Given the description of an element on the screen output the (x, y) to click on. 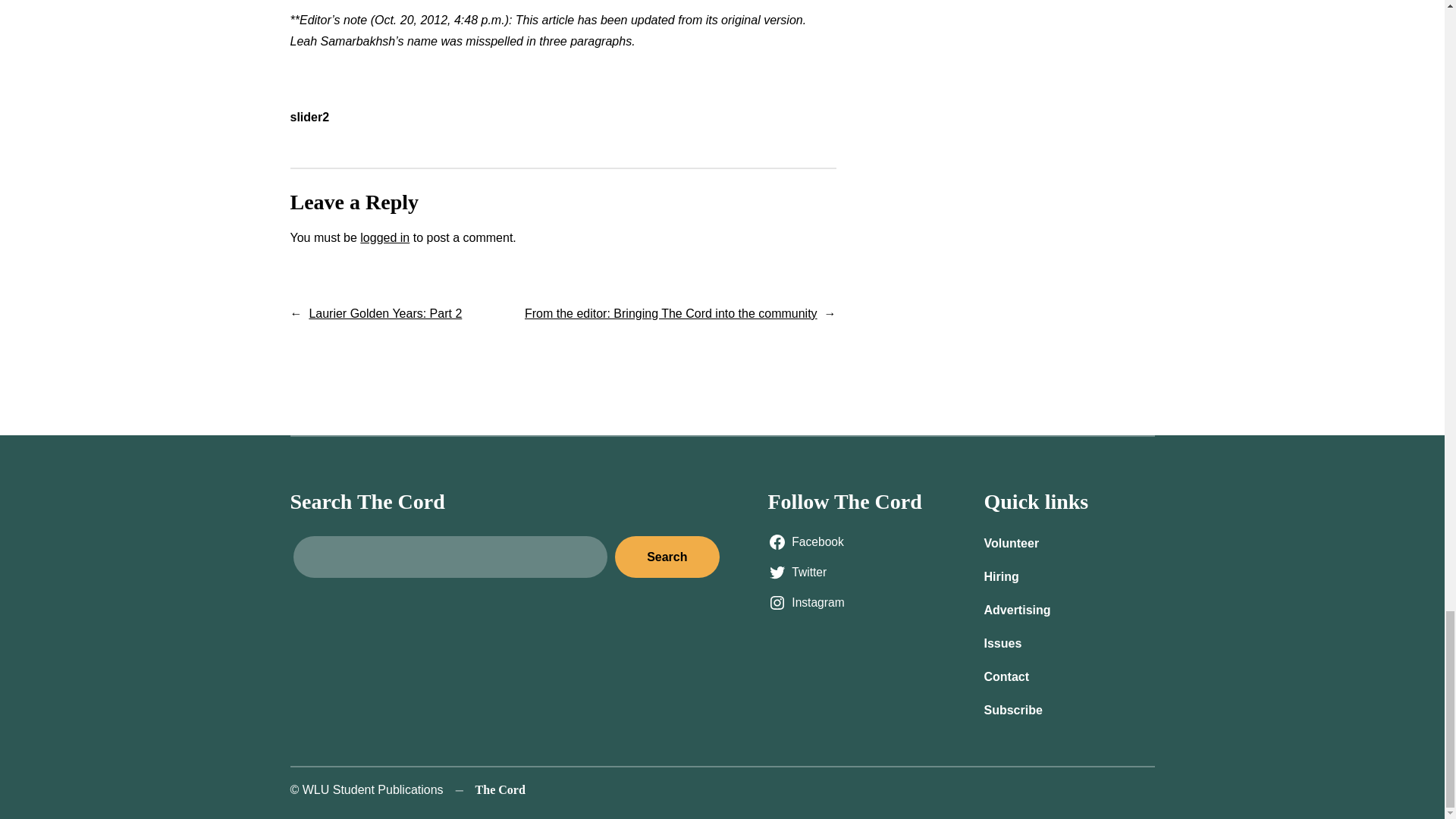
From the editor: Bringing The Cord into the community (670, 313)
slider2 (309, 116)
Laurier Golden Years: Part 2 (384, 313)
logged in (384, 237)
